Given the description of an element on the screen output the (x, y) to click on. 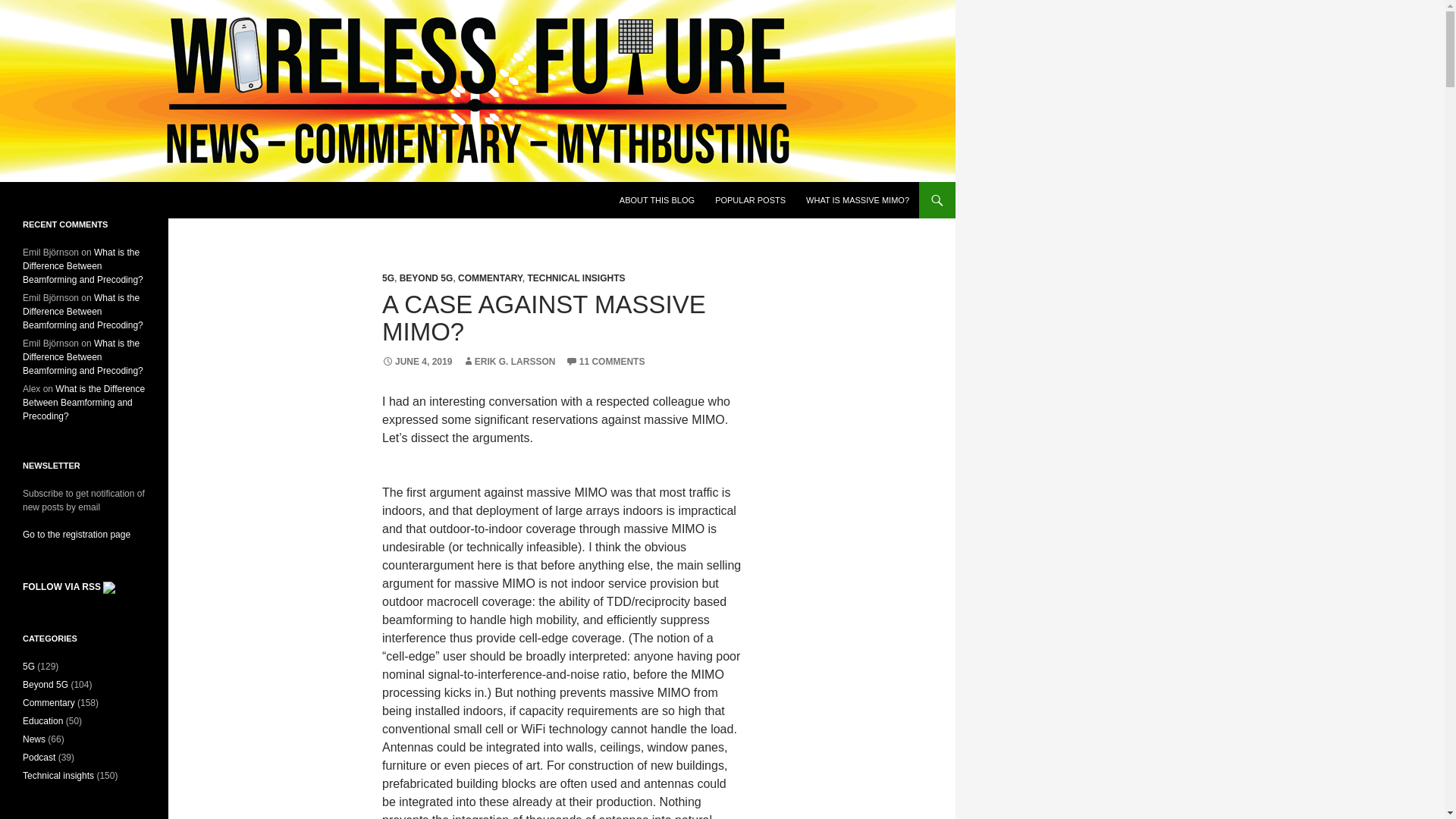
ERIK G. LARSSON (509, 361)
BEYOND 5G (425, 277)
WHAT IS MASSIVE MIMO? (857, 199)
TECHNICAL INSIGHTS (575, 277)
11 COMMENTS (605, 361)
POPULAR POSTS (750, 199)
JUNE 4, 2019 (416, 361)
Wireless Future Blog (90, 199)
COMMENTARY (490, 277)
